Given the description of an element on the screen output the (x, y) to click on. 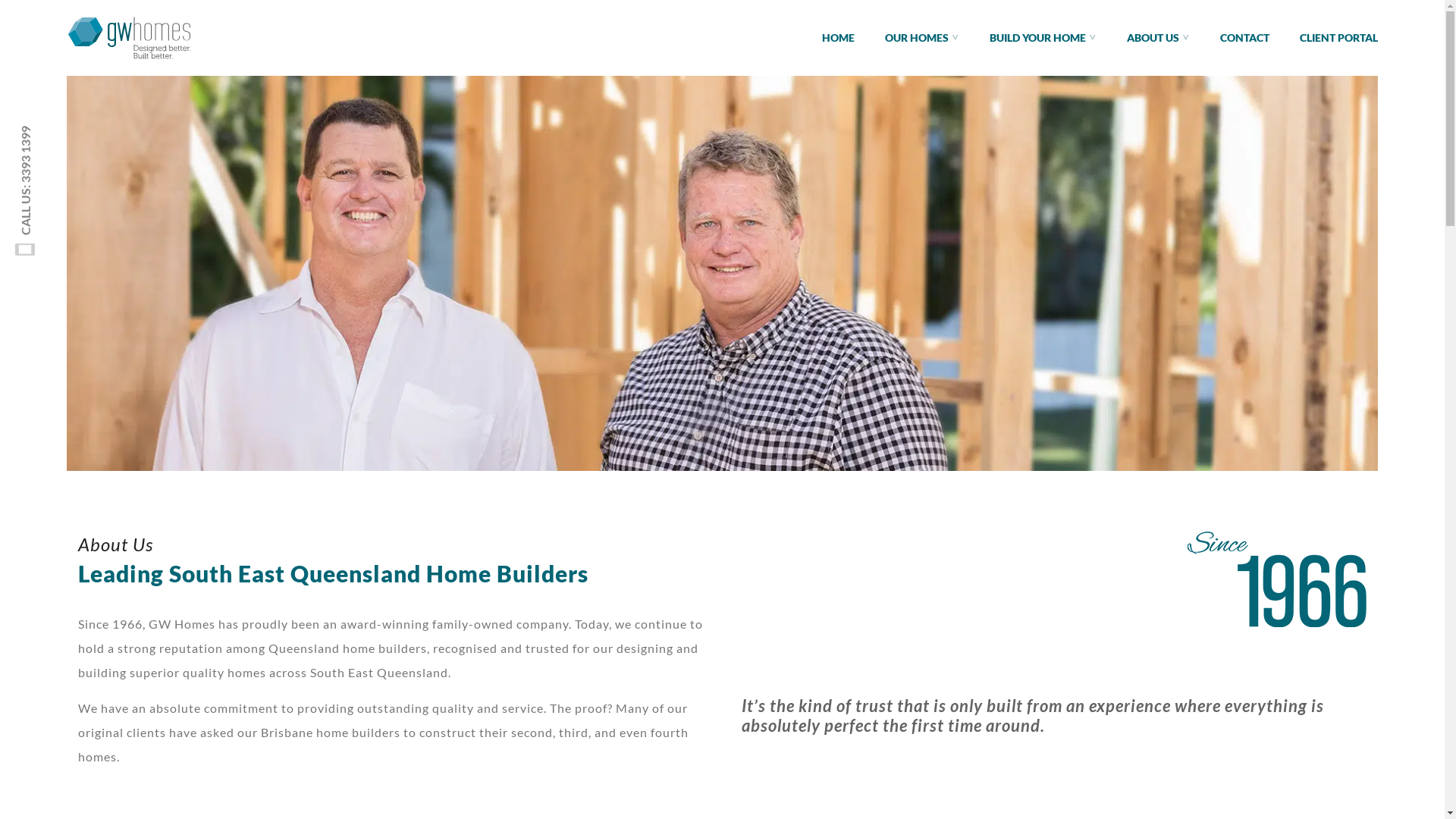
HOME Element type: text (838, 37)
BUILD YOUR HOME Element type: text (1042, 37)
OUR HOMES Element type: text (921, 37)
CLIENT PORTAL Element type: text (1338, 37)
CONTACT Element type: text (1244, 37)
ABOUT US Element type: text (1157, 37)
CALL US: 3393 1399 Element type: text (81, 136)
